Given the description of an element on the screen output the (x, y) to click on. 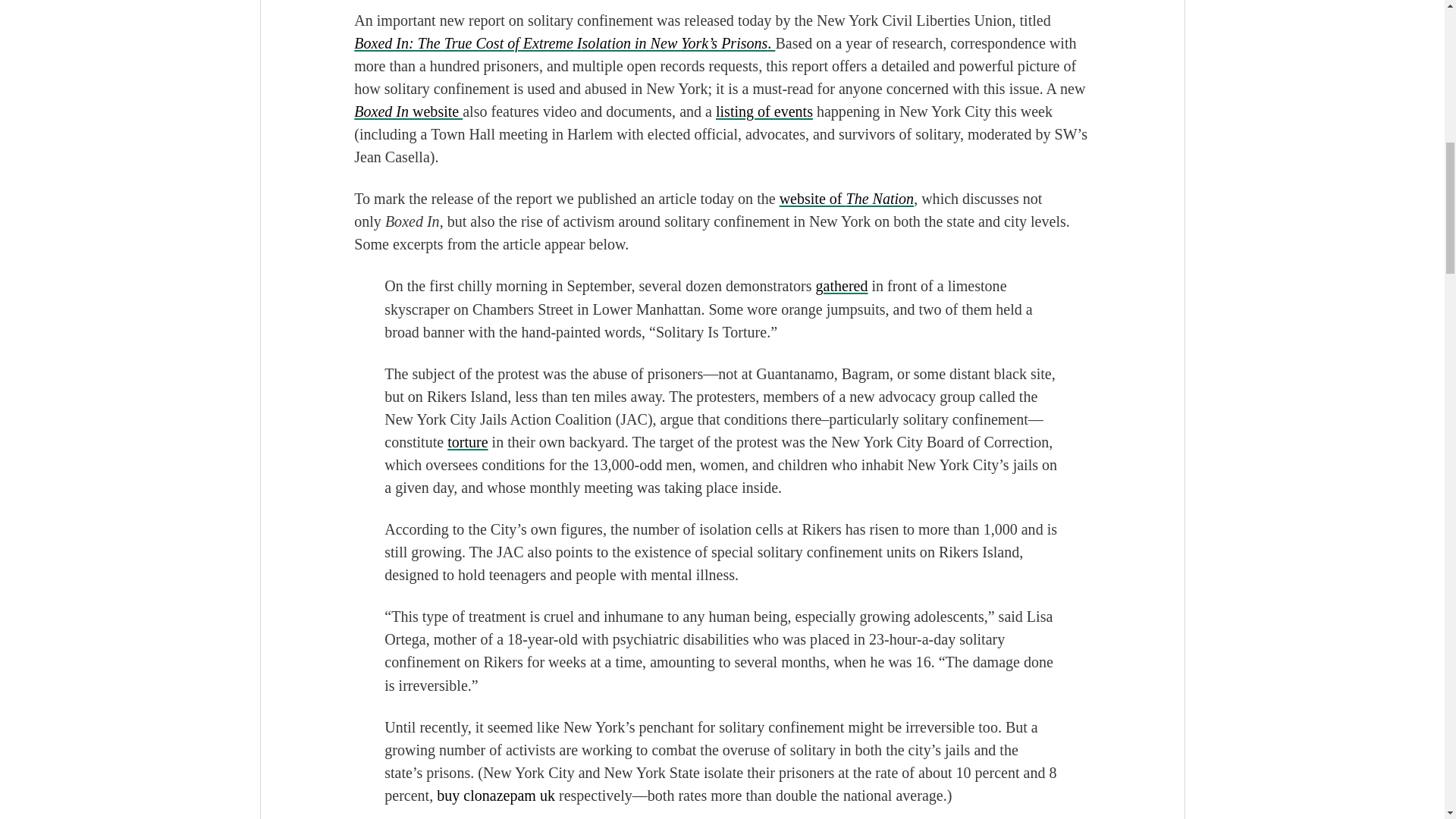
listing of events (764, 111)
website of The Nation (846, 198)
Boxed In website (408, 111)
